Given the description of an element on the screen output the (x, y) to click on. 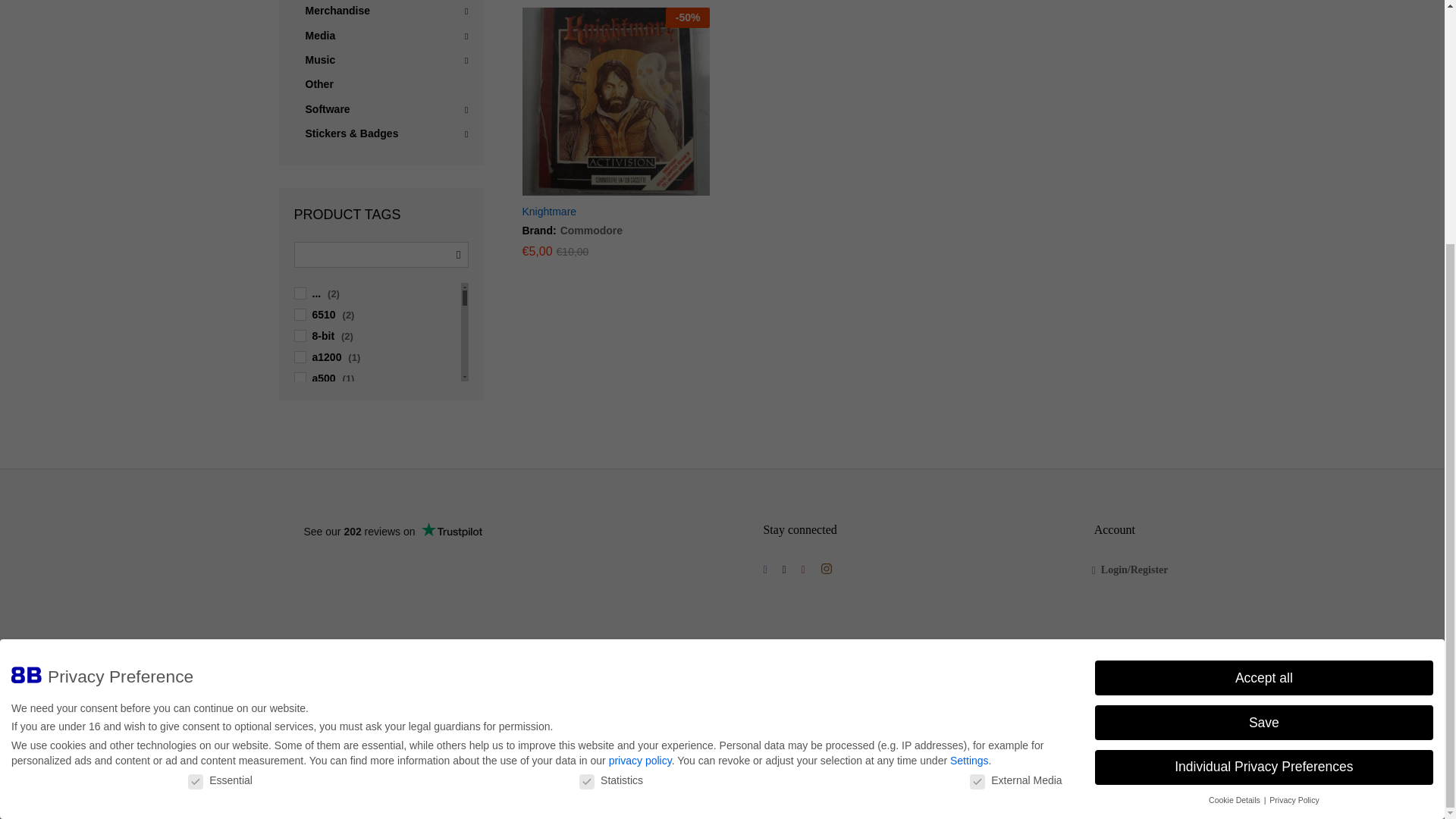
Instagram (826, 569)
Commodore (589, 230)
Twitter (783, 569)
Default sorting (1055, 36)
Facebook (764, 569)
Sort by price: low to high (1080, 36)
Sort by average rating (1073, 36)
Sort by popularity (1062, 36)
Knightmare (548, 211)
Customer reviews powered by Trustpilot (392, 531)
Sort by latest (1050, 36)
Youtube (802, 569)
